Given the description of an element on the screen output the (x, y) to click on. 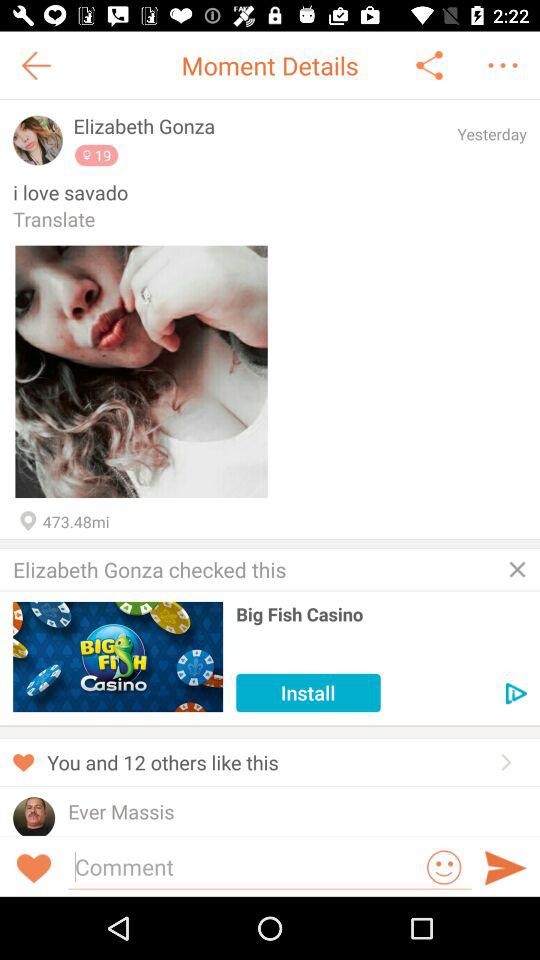
view profile (38, 140)
